Given the description of an element on the screen output the (x, y) to click on. 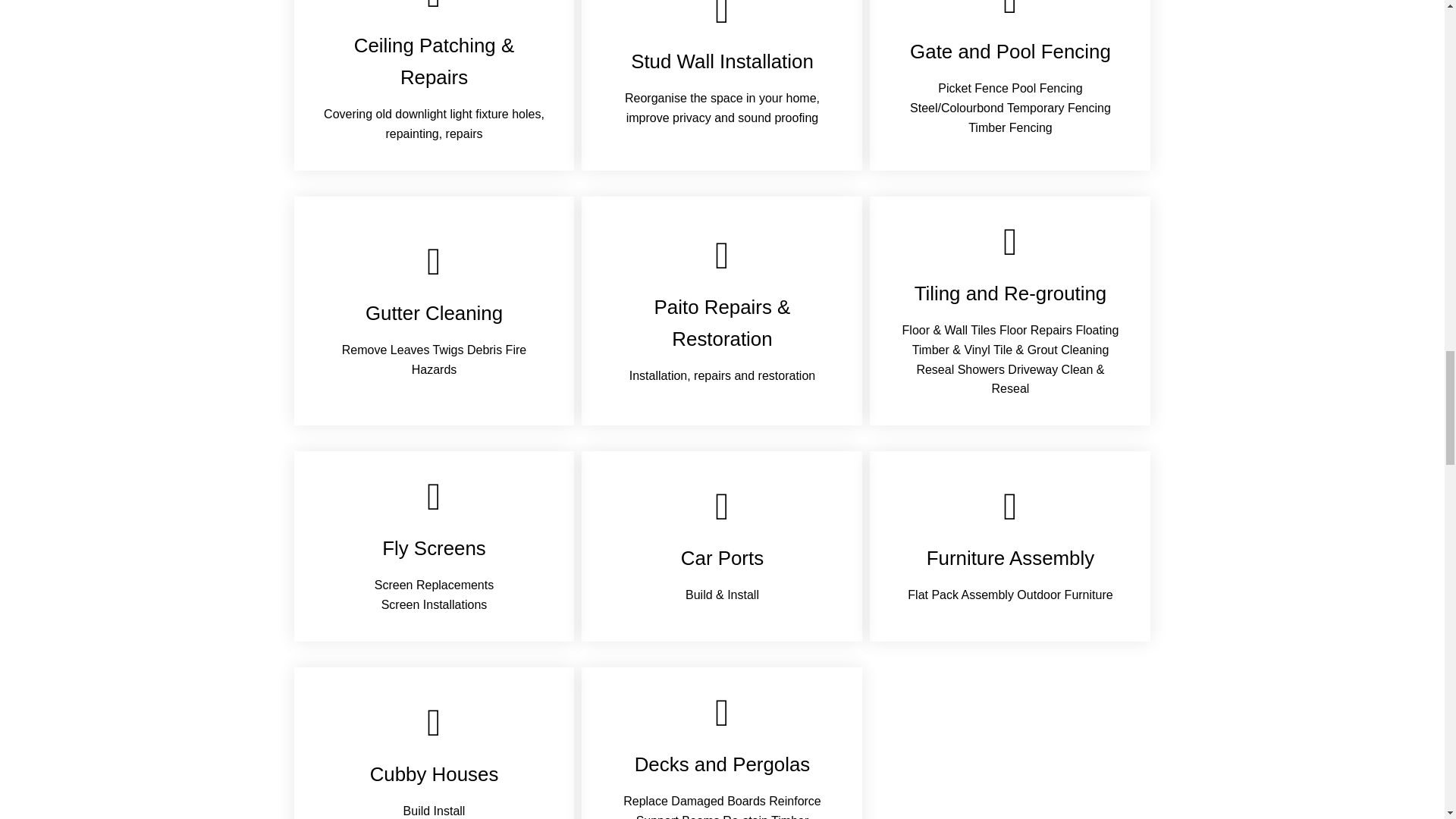
Gutter Cleaning (433, 312)
Gate and Pool Fencing (1010, 51)
Stud Wall Installation (721, 61)
